Given the description of an element on the screen output the (x, y) to click on. 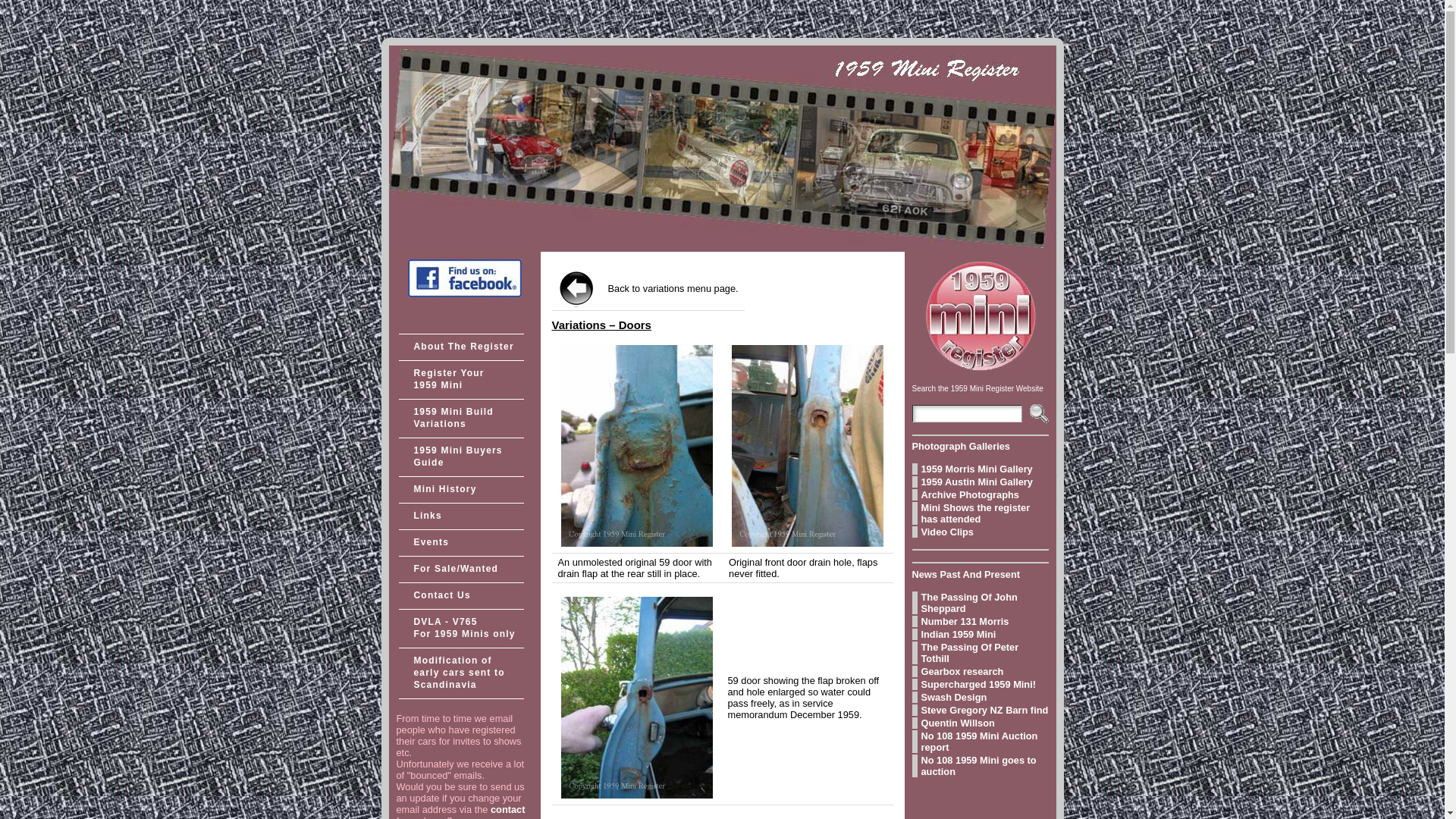
About The Register Element type: text (461, 347)
Archive Photographs Element type: text (979, 494)
Mini Shows the register has attended Element type: text (979, 513)
The Passing Of John Sheppard Element type: text (979, 602)
Register Your
1959 Mini Element type: text (461, 379)
contact Element type: text (507, 809)
Events Element type: text (461, 542)
For Sale/Wanted Element type: text (461, 569)
Quentin Willson Element type: text (979, 722)
DVLA - V765
For 1959 Minis only Element type: text (461, 628)
Video Clips Element type: text (979, 531)
image002 Element type: hover (636, 445)
Steve Gregory NZ Barn find Element type: text (979, 709)
Modification of early cars sent to Scandinavia Element type: text (461, 673)
1959 Mini Buyers Guide Element type: text (461, 457)
Indian 1959 Mini Element type: text (979, 634)
Mini History Element type: text (461, 489)
No 108 1959 Mini goes to auction Element type: text (979, 765)
image004 Element type: hover (807, 445)
1959 Mini Build Variations Element type: text (461, 418)
Facebook Element type: hover (464, 293)
Links Element type: text (461, 516)
1959 Morris Mini Gallery Element type: text (979, 468)
The Passing Of Peter Tothill Element type: text (979, 652)
Gearbox research Element type: text (979, 671)
Swash Design Element type: text (979, 696)
Number 131 Morris Element type: text (979, 621)
1959 Austin Mini Gallery Element type: text (979, 481)
image005 Element type: hover (636, 697)
No 108 1959 Mini Auction report Element type: text (979, 741)
Supercharged 1959 Mini! Element type: text (979, 684)
Contact Us Element type: text (461, 595)
